Given the description of an element on the screen output the (x, y) to click on. 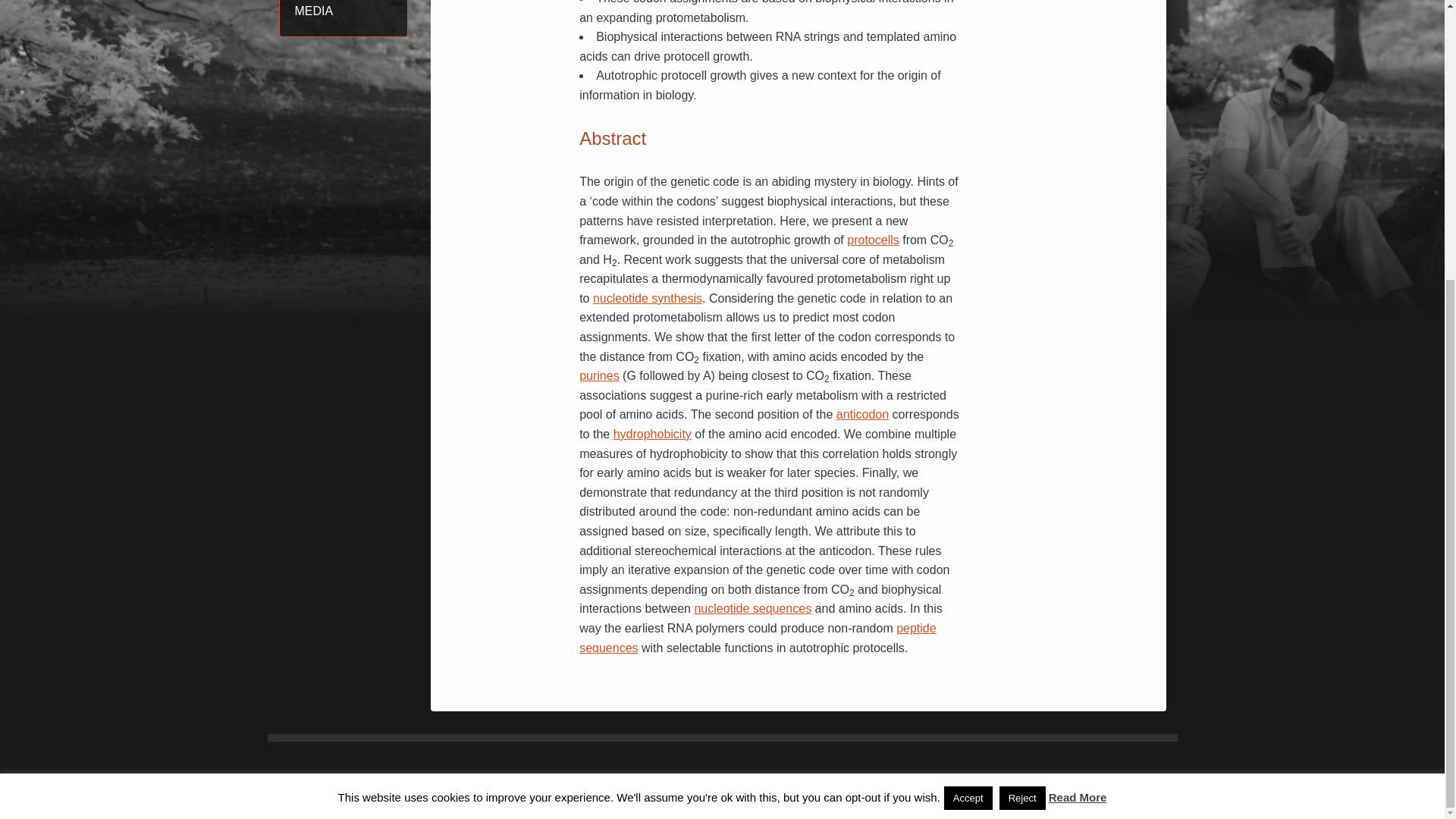
hydrophobicity (651, 433)
PRIVACY AND TERMS (1051, 797)
Accept (967, 381)
Reject (1021, 381)
nucleotide synthesis (646, 297)
purines (598, 375)
nucleotide sequences (752, 608)
Read More (1077, 380)
